Given the description of an element on the screen output the (x, y) to click on. 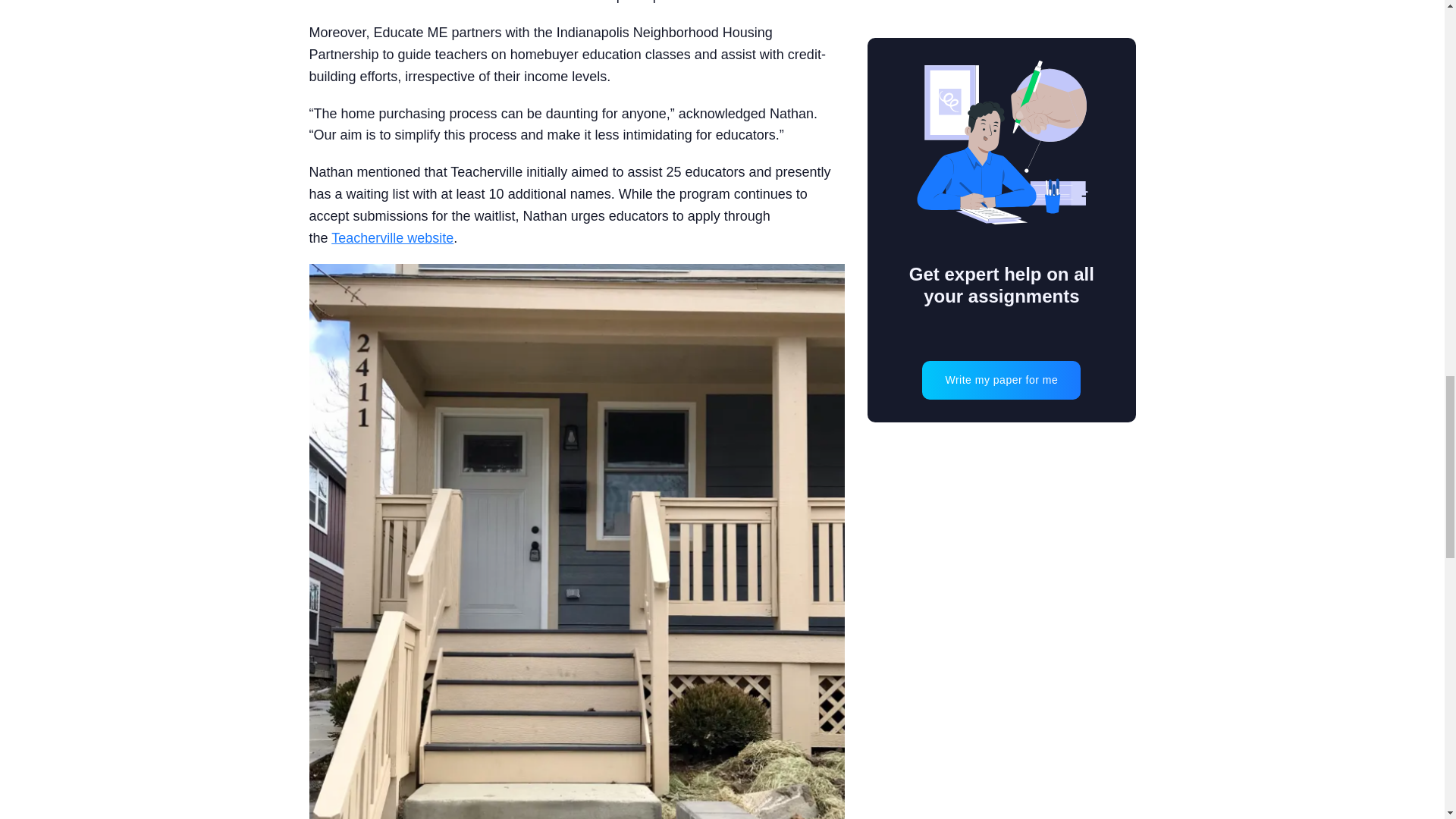
Teacherville website (391, 237)
